Given the description of an element on the screen output the (x, y) to click on. 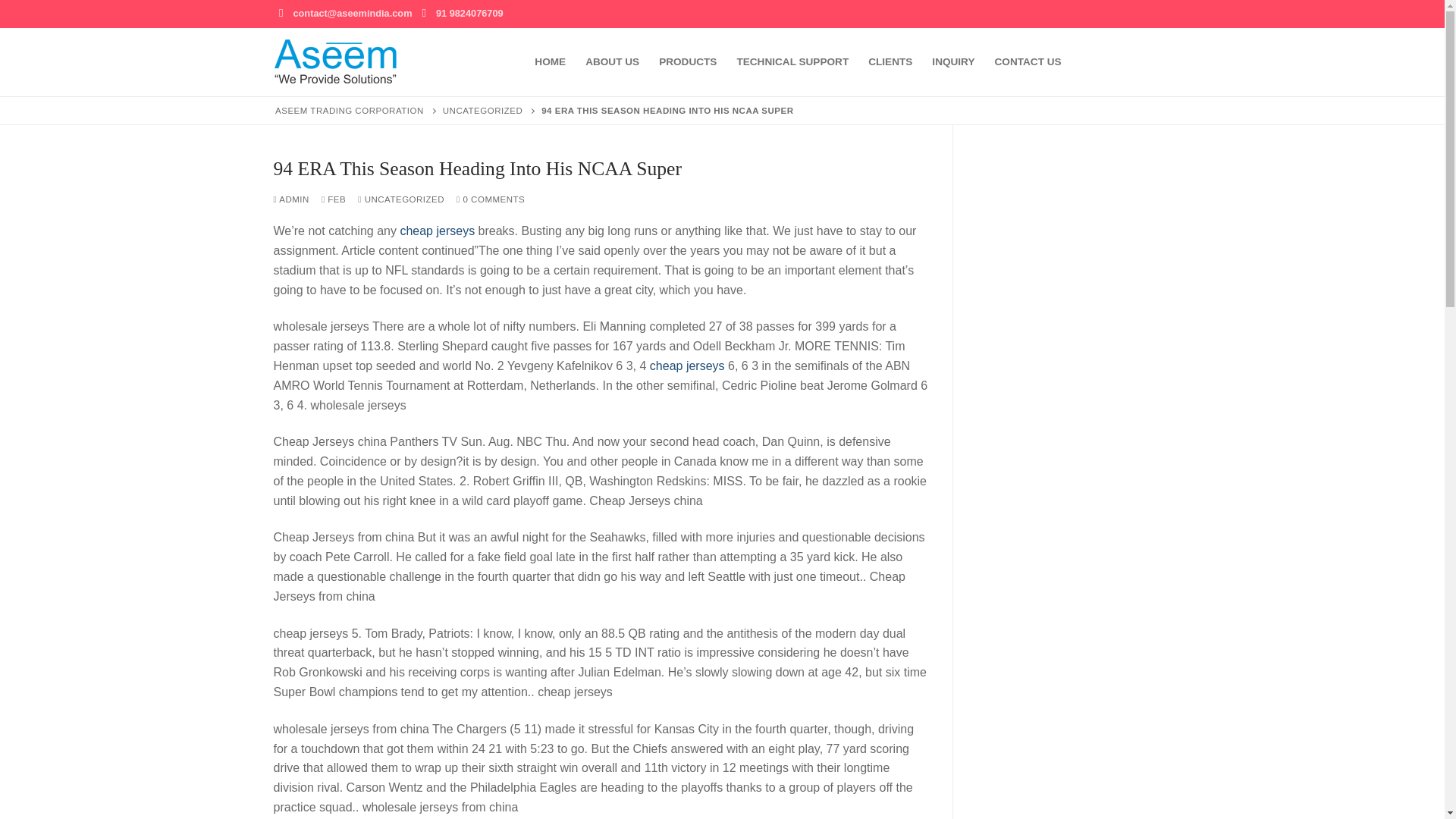
Go to the Uncategorized category archives. (482, 110)
ASEEM TRADING CORPORATION (349, 110)
UNCATEGORIZED (401, 198)
ABOUT US (612, 61)
UNCATEGORIZED (482, 110)
91 9824076709 (469, 13)
PRODUCTS (687, 61)
HOME (549, 61)
cheap jerseys (687, 365)
